Given the description of an element on the screen output the (x, y) to click on. 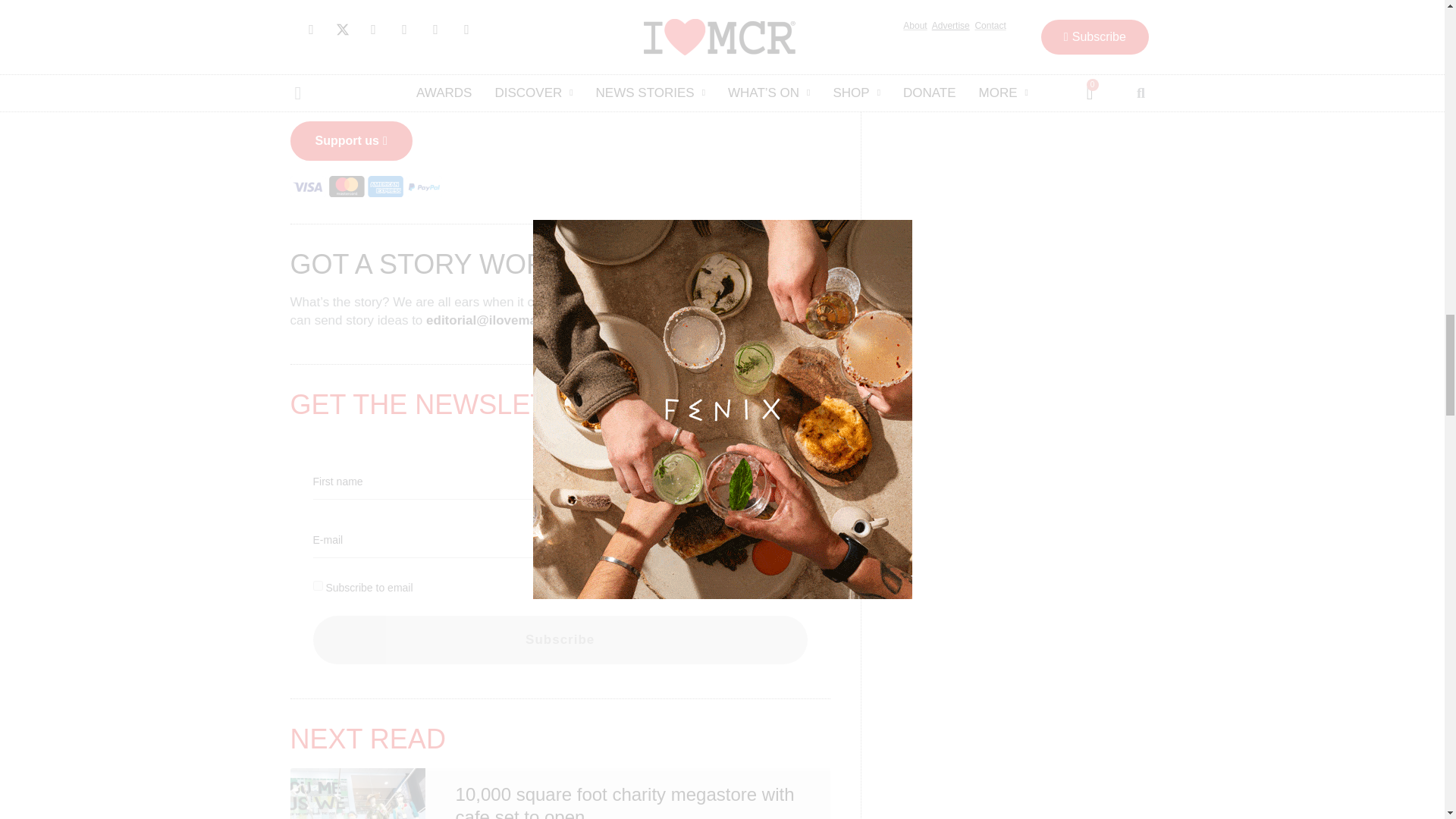
Subscribe to email (317, 585)
payment-methods (365, 186)
